Given the description of an element on the screen output the (x, y) to click on. 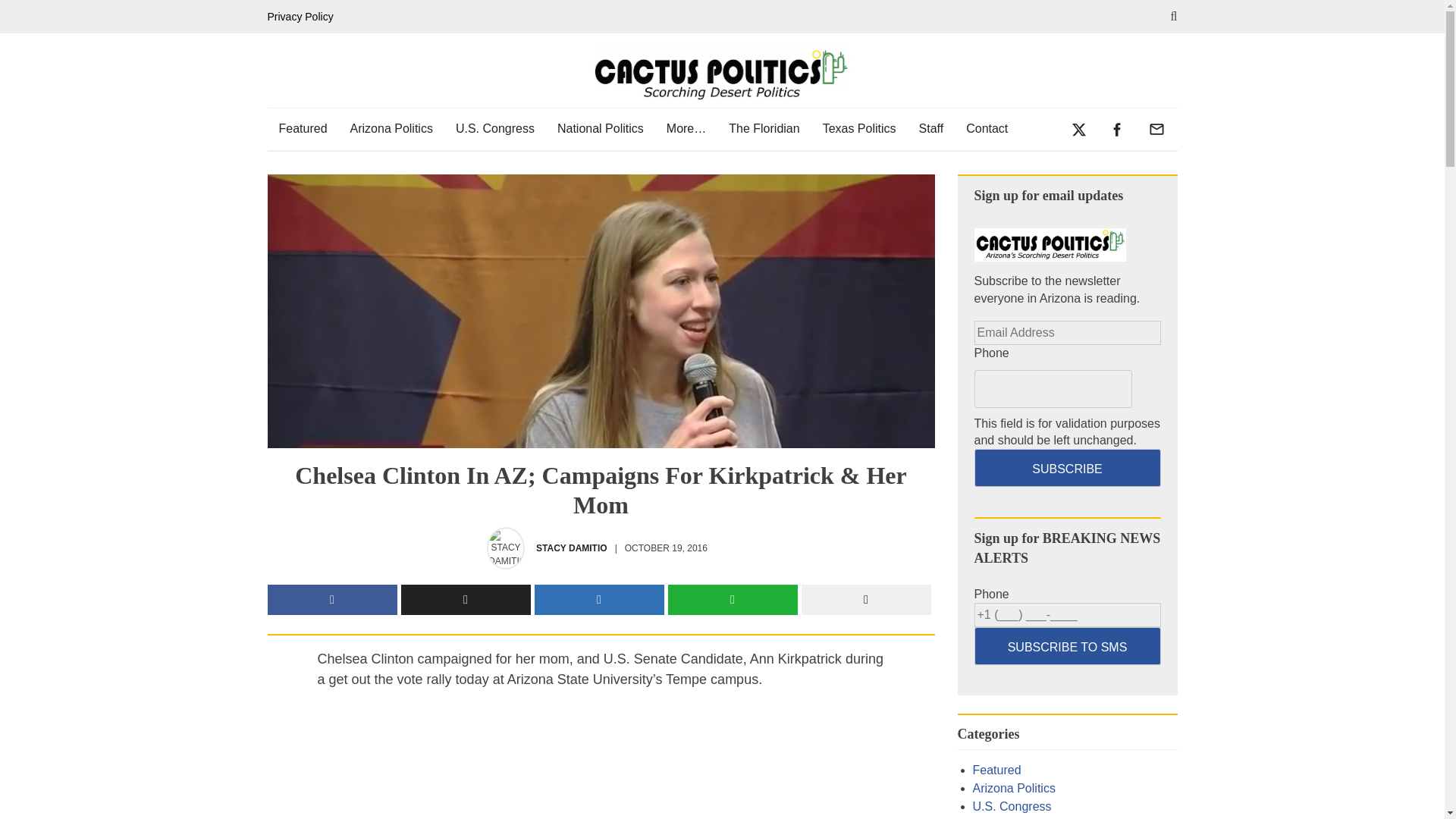
Privacy Policy (303, 16)
Arizona Politics (391, 128)
Featured (301, 128)
Staff (931, 128)
Contact (987, 128)
SUBSCRIBE TO SMS (1067, 646)
Chelsea Clinton Campaigns for Ann Kirkpatrick (600, 764)
U.S. Congress (495, 128)
STACY DAMITIO (571, 548)
Texas Politics (858, 128)
